Given the description of an element on the screen output the (x, y) to click on. 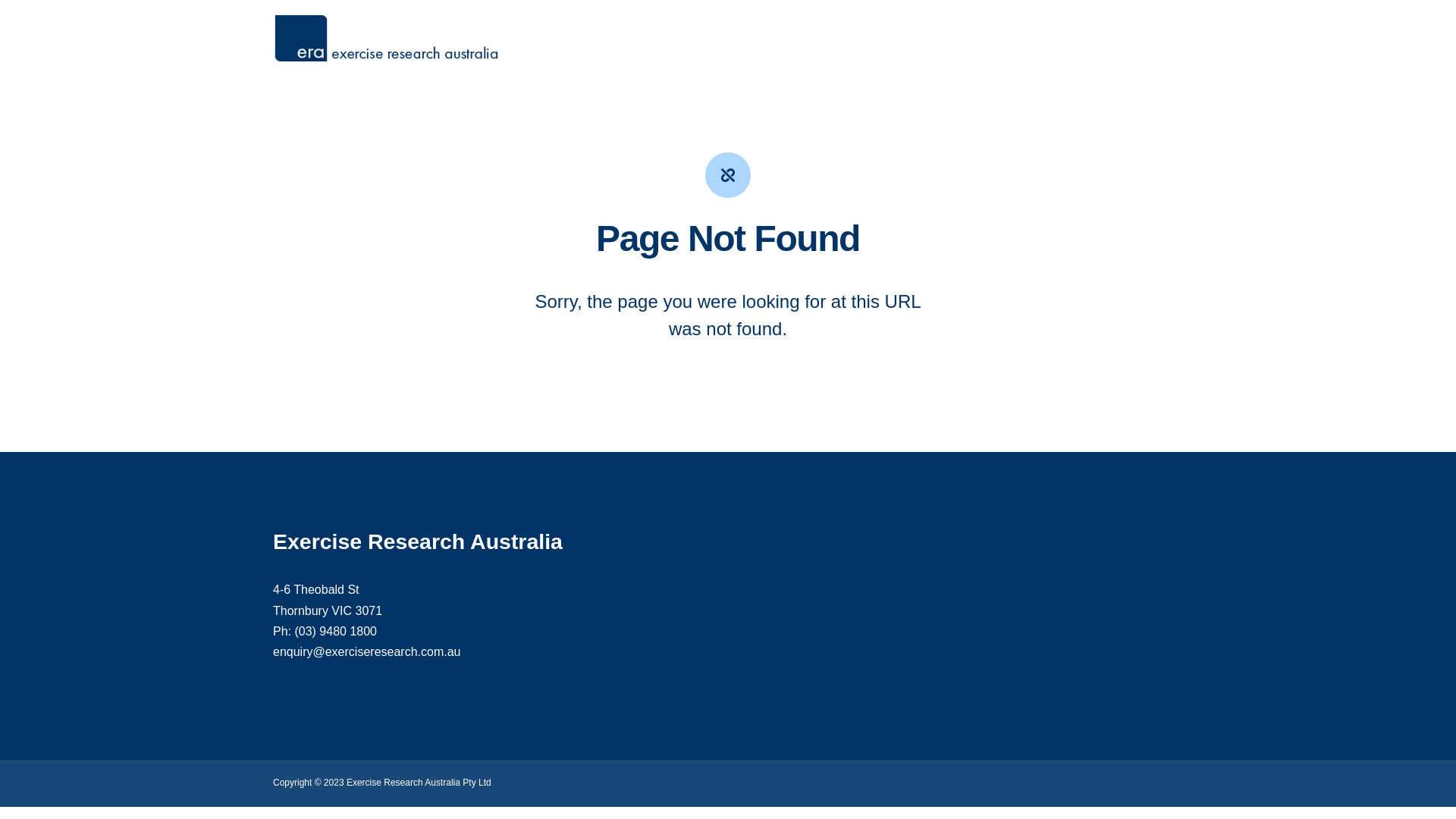
enquiry@exerciseresearch.com.au Element type: text (366, 651)
(03) 9480 1800 Element type: text (335, 630)
Exercise Research Australia Element type: hover (386, 38)
